Given the description of an element on the screen output the (x, y) to click on. 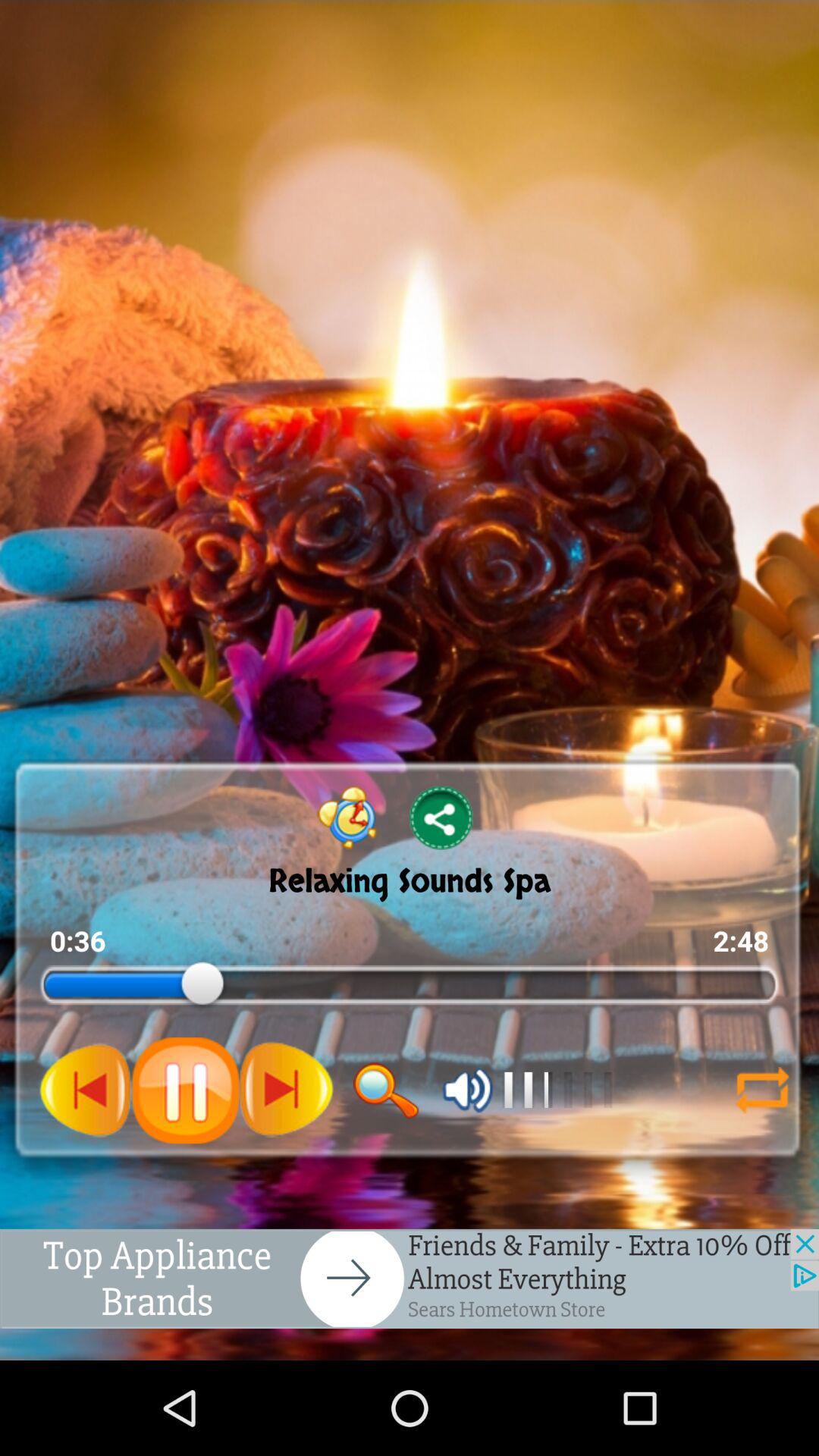
alarm notification (347, 817)
